Given the description of an element on the screen output the (x, y) to click on. 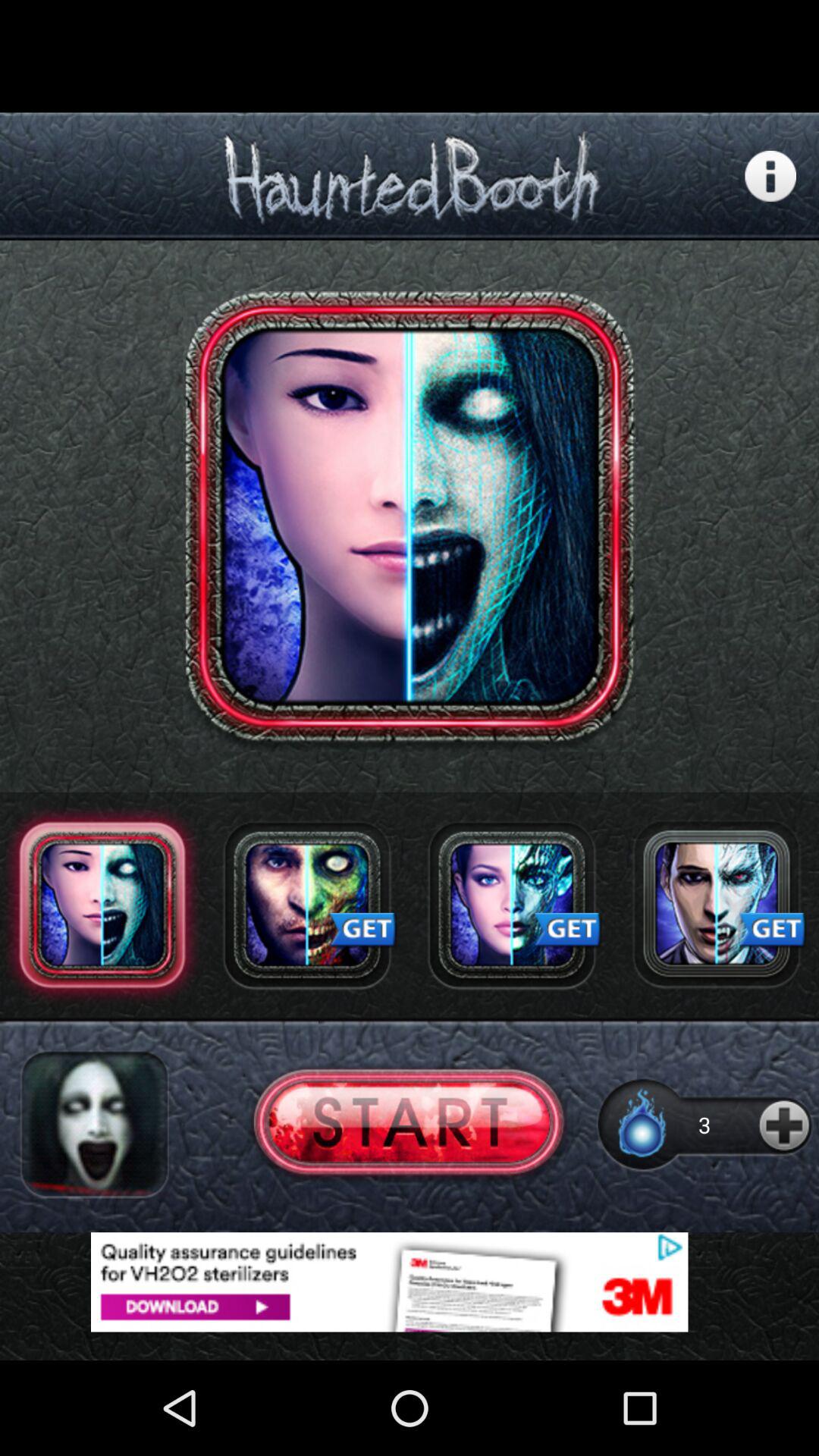
get selected frame (511, 904)
